Given the description of an element on the screen output the (x, y) to click on. 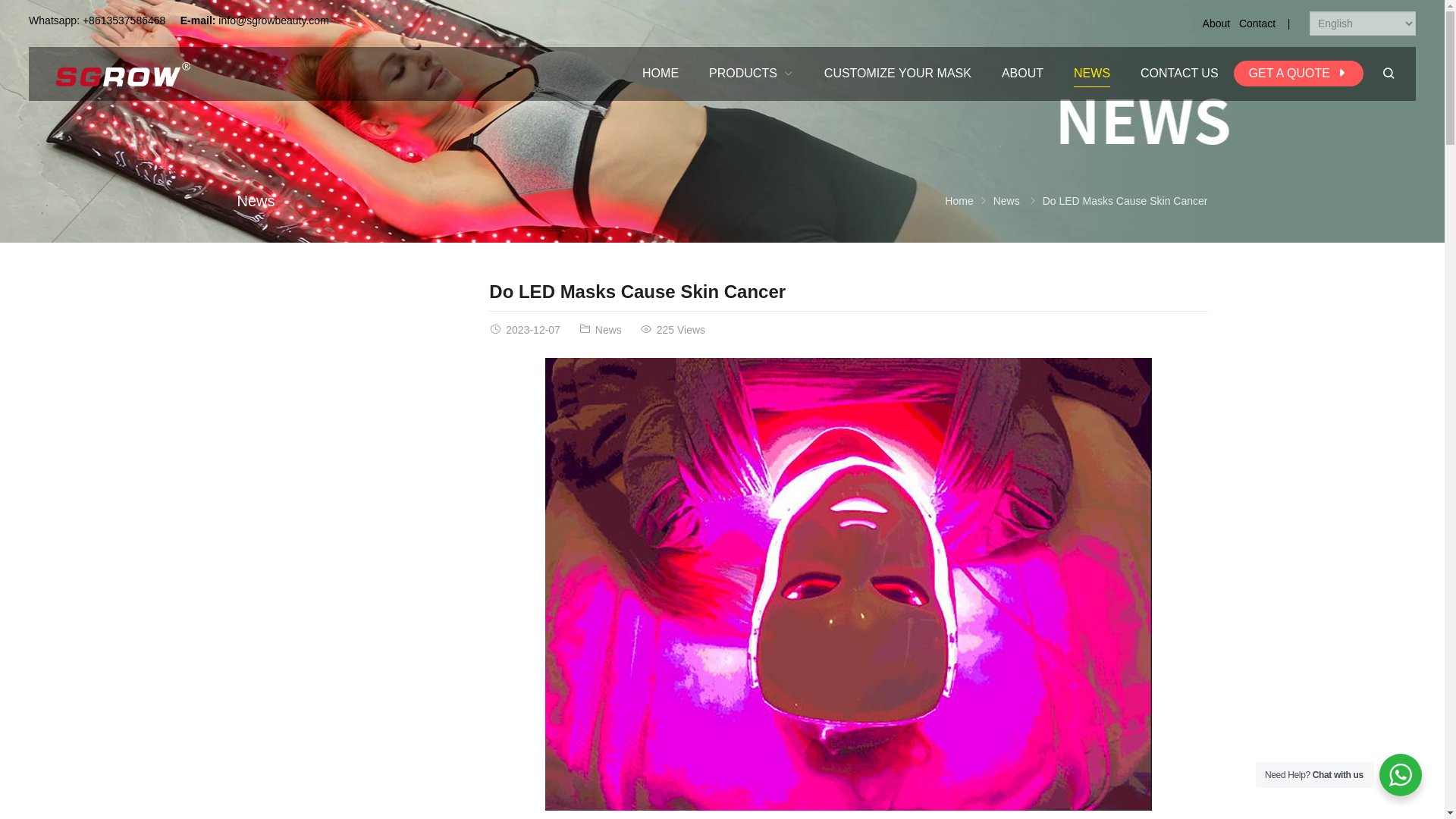
CONTACT US (1179, 72)
About (1216, 23)
Search (1387, 73)
News (1006, 200)
News (608, 329)
CUSTOMIZE YOUR MASK (898, 72)
Contact (1257, 23)
News (255, 200)
GET A QUOTE (1297, 73)
SGROW (123, 72)
PRODUCTS (751, 72)
ABOUT (1022, 72)
HOME (660, 72)
8613537586468 (126, 20)
Home (958, 200)
